Given the description of an element on the screen output the (x, y) to click on. 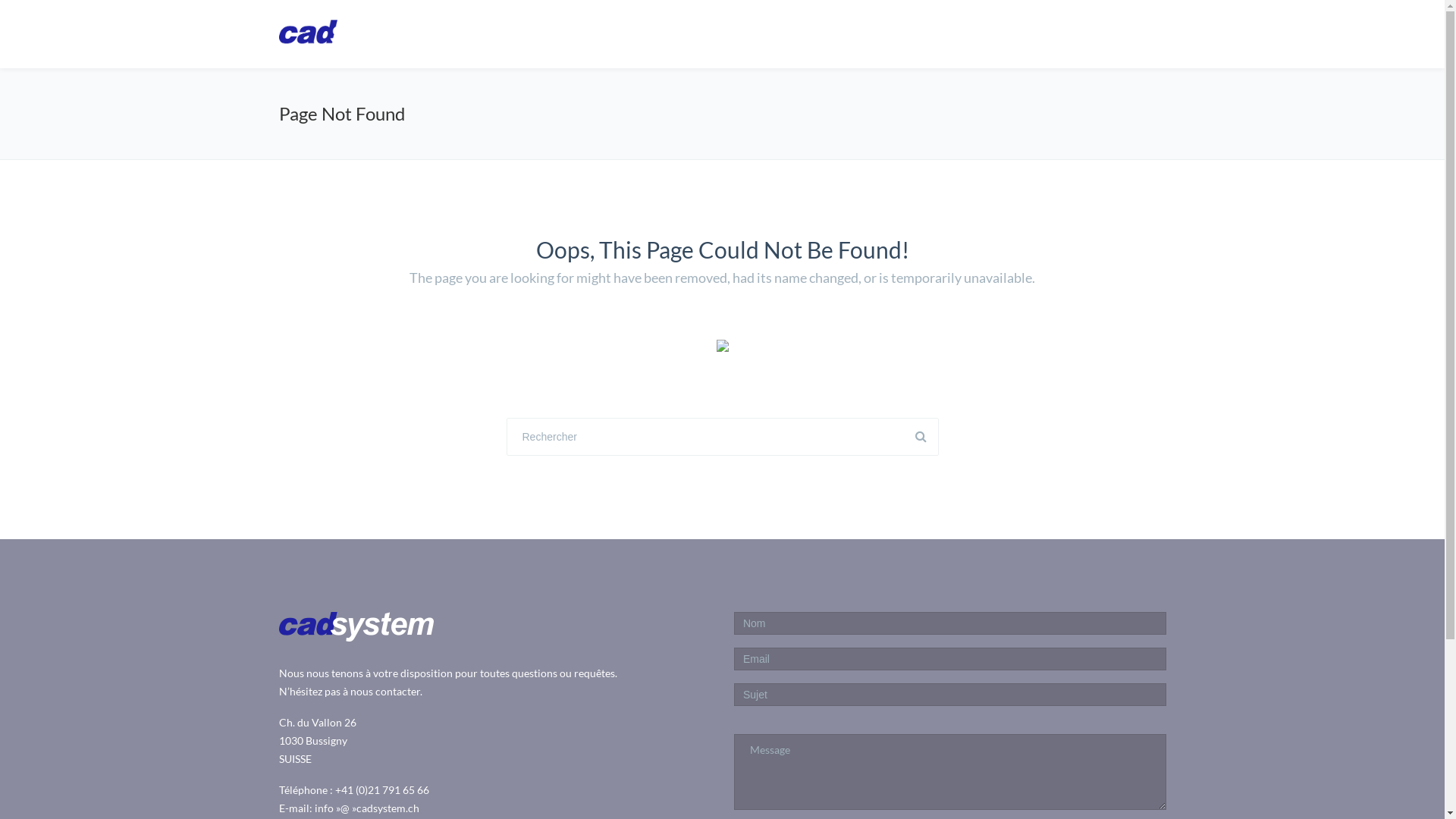
www.cad-system.ch Element type: hover (356, 34)
Services Element type: text (999, 33)
Downloads Element type: text (1084, 33)
Autodesk Element type: text (917, 33)
CadARM Element type: text (831, 33)
Homepage Element type: text (742, 33)
